Given the description of an element on the screen output the (x, y) to click on. 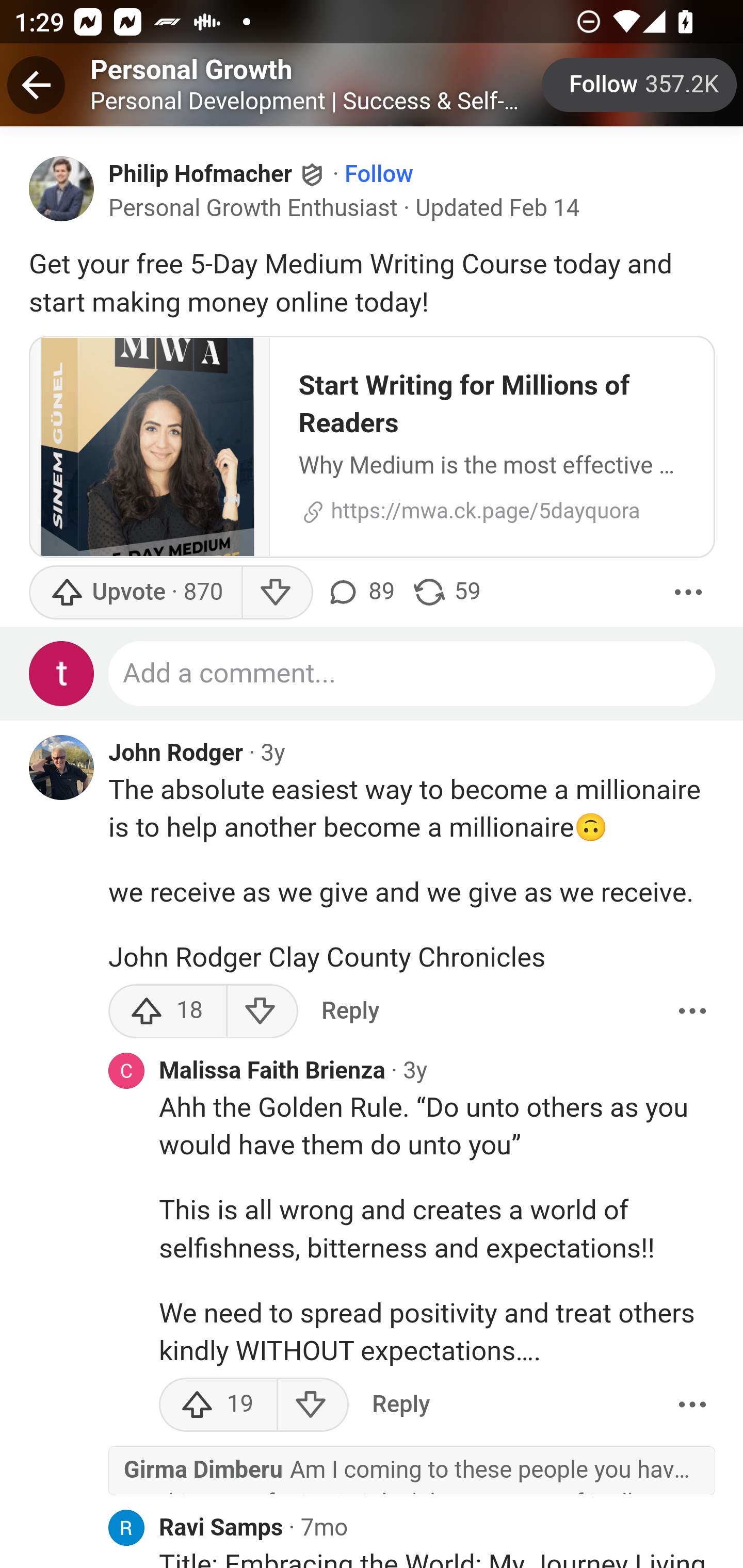
Personal Growth (191, 68)
Follow 357.2K (639, 85)
Profile photo for Philip Hofmacher (61, 188)
Philip Hofmacher Philip Hofmacher   (218, 173)
Follow (379, 174)
Upvote (135, 591)
Downvote (277, 591)
89 comments (363, 591)
89 comments (360, 591)
59 shares (445, 591)
59 shares (445, 591)
More (688, 591)
Profile photo for Test Appium (61, 673)
Add a comment... (412, 673)
Profile photo for John Rodger (61, 766)
John Rodger (175, 752)
18 upvotes (167, 1010)
Downvote (261, 1010)
Reply (350, 1010)
More (691, 1010)
Profile photo for Malissa Faith Brienza (126, 1069)
Malissa Faith Brienza (272, 1070)
19 upvotes (218, 1404)
Downvote (312, 1404)
Reply (400, 1404)
More (691, 1404)
Profile photo for Ravi Samps (126, 1527)
Ravi Samps (221, 1528)
